Given the description of an element on the screen output the (x, y) to click on. 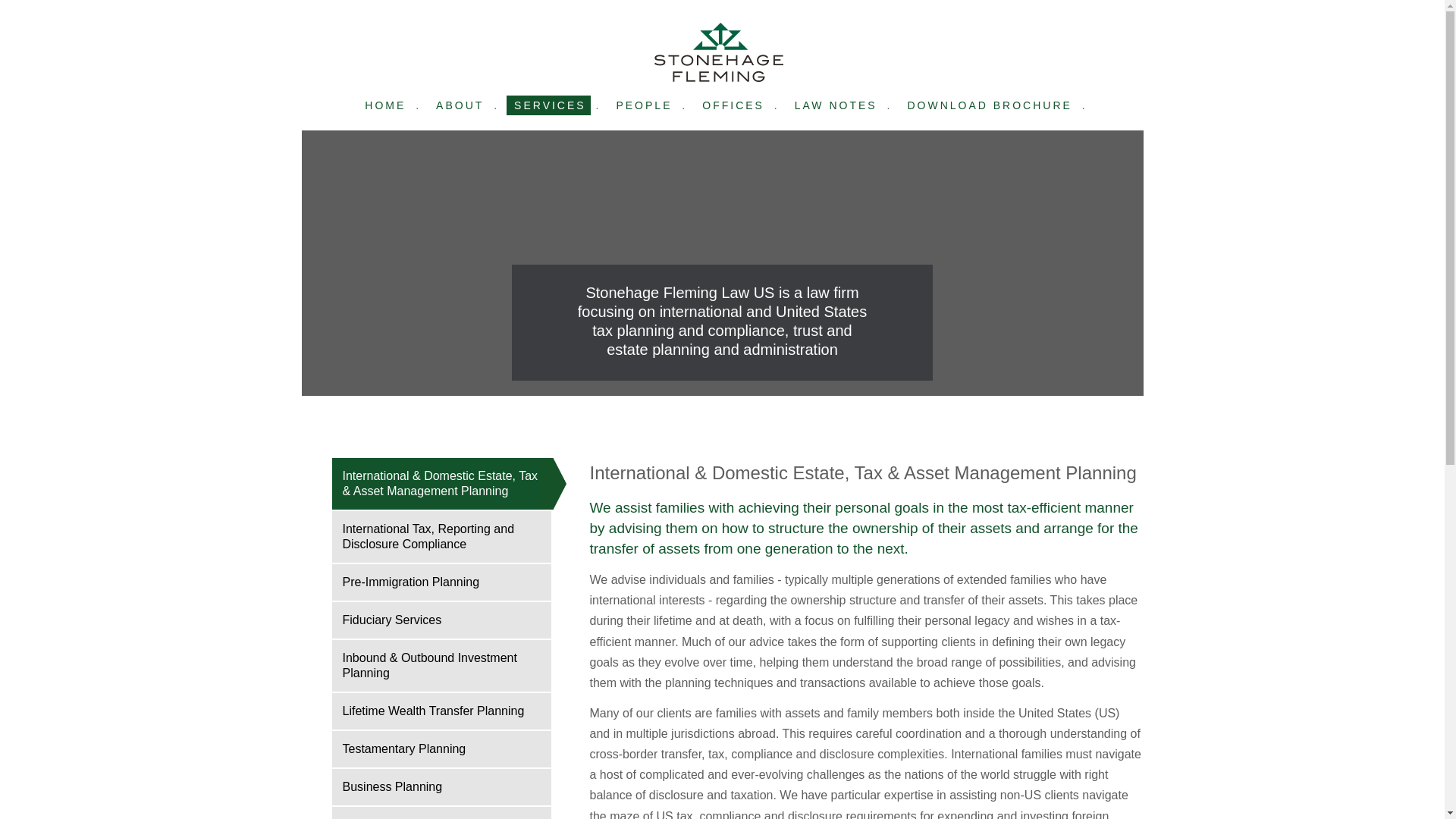
DOWNLOAD BROCHURE (987, 105)
Stonehage Fleming (718, 51)
Pre-Immigration Planning (441, 582)
Stonehage Fleming (718, 51)
LAW NOTES (834, 105)
Estate Administration (441, 812)
OFFICES (731, 105)
Lifetime Wealth Transfer Planning (441, 710)
International Tax, Reporting and Disclosure Compliance (441, 536)
PEOPLE (642, 105)
HOME (383, 105)
SERVICES (548, 105)
Business Planning (441, 787)
Testamentary Planning (441, 749)
ABOUT (457, 105)
